Given the description of an element on the screen output the (x, y) to click on. 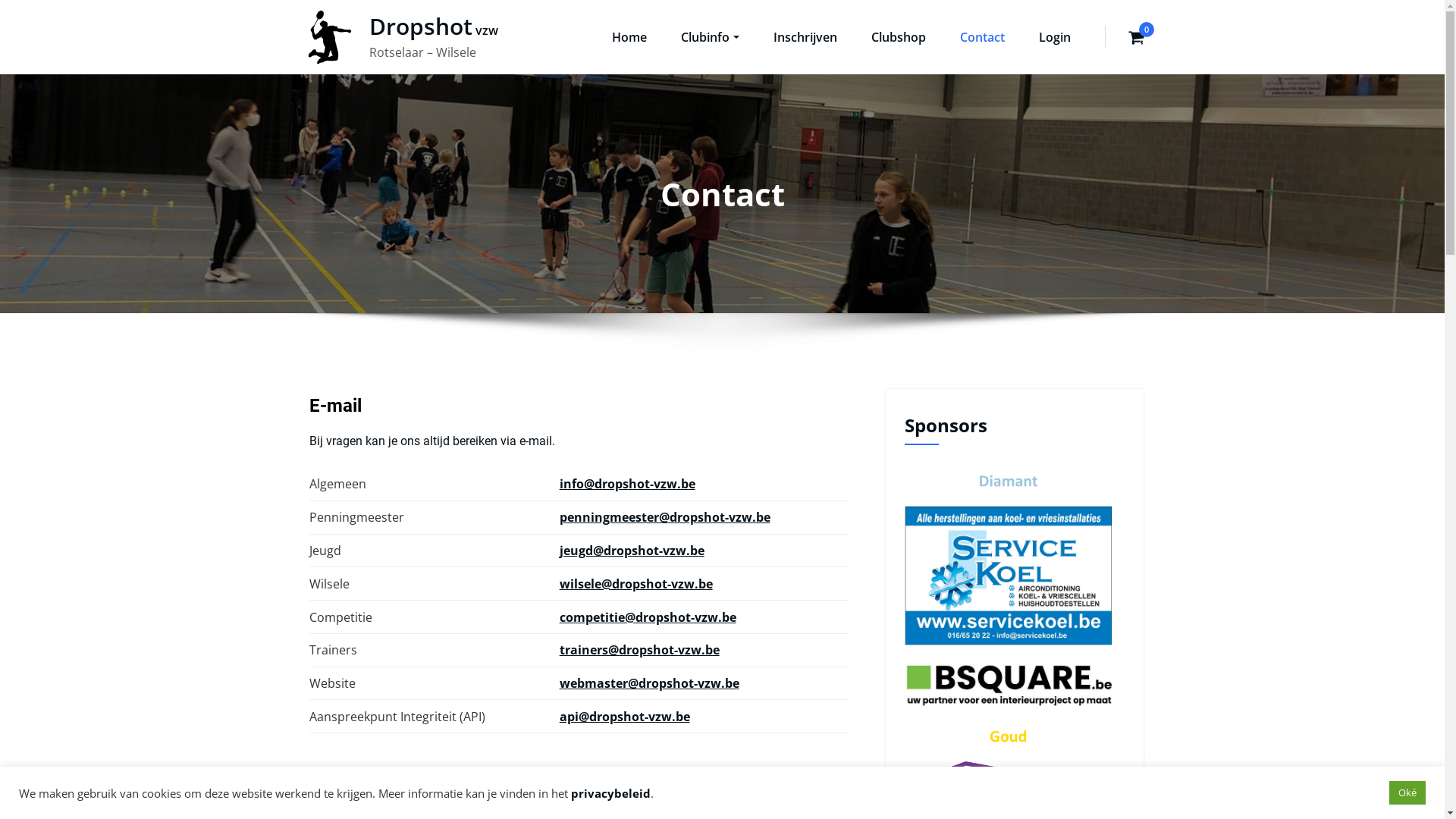
wilsele@dropshot-vzw.be Element type: text (635, 583)
competitie@dropshot-vzw.be Element type: text (647, 616)
Clubinfo Element type: text (709, 49)
Login Element type: text (1054, 49)
privacybeleid Element type: text (610, 792)
logo_servicekoel Element type: hover (1007, 574)
penningmeester@dropshot-vzw.be Element type: text (664, 516)
jeugd@dropshot-vzw.be Element type: text (631, 550)
Clubshop Element type: text (897, 49)
trainers@dropshot-vzw.be Element type: text (639, 649)
Contact Element type: text (982, 49)
webmaster@dropshot-vzw.be Element type: text (649, 682)
Home Element type: text (628, 49)
info@dropshot-vzw.be Element type: text (627, 483)
api@dropshot-vzw.be Element type: text (624, 716)
Inschrijven Element type: text (805, 49)
Dropshot vzw Element type: text (432, 25)
